Given the description of an element on the screen output the (x, y) to click on. 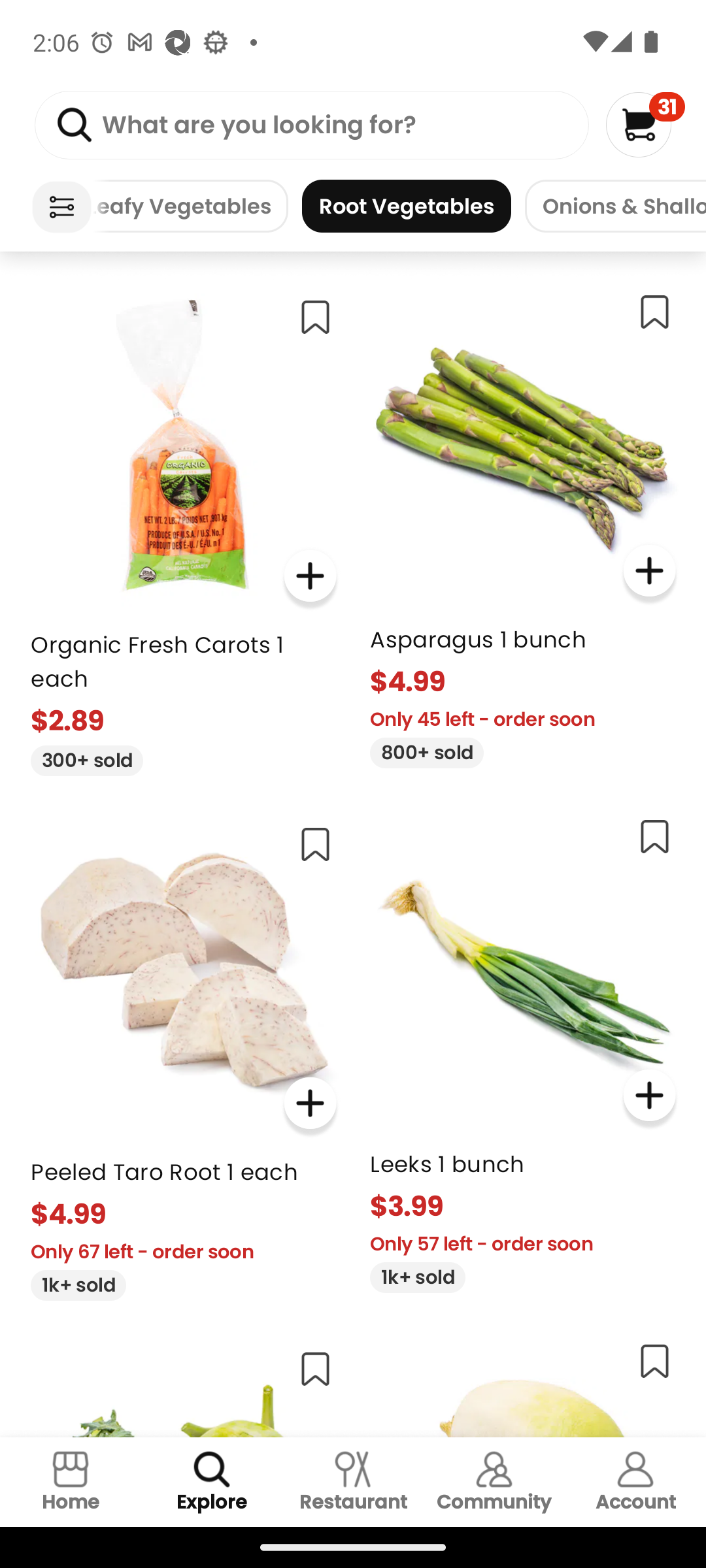
What are you looking for? (311, 124)
31 (644, 124)
Leafy Vegetables (190, 206)
Root Vegetables (406, 206)
Onions & Shallots (615, 206)
Organic Fresh Carots 1 each $2.89 300+ sold (182, 529)
Home (70, 1482)
Explore (211, 1482)
Restaurant (352, 1482)
Community (493, 1482)
Account (635, 1482)
